Given the description of an element on the screen output the (x, y) to click on. 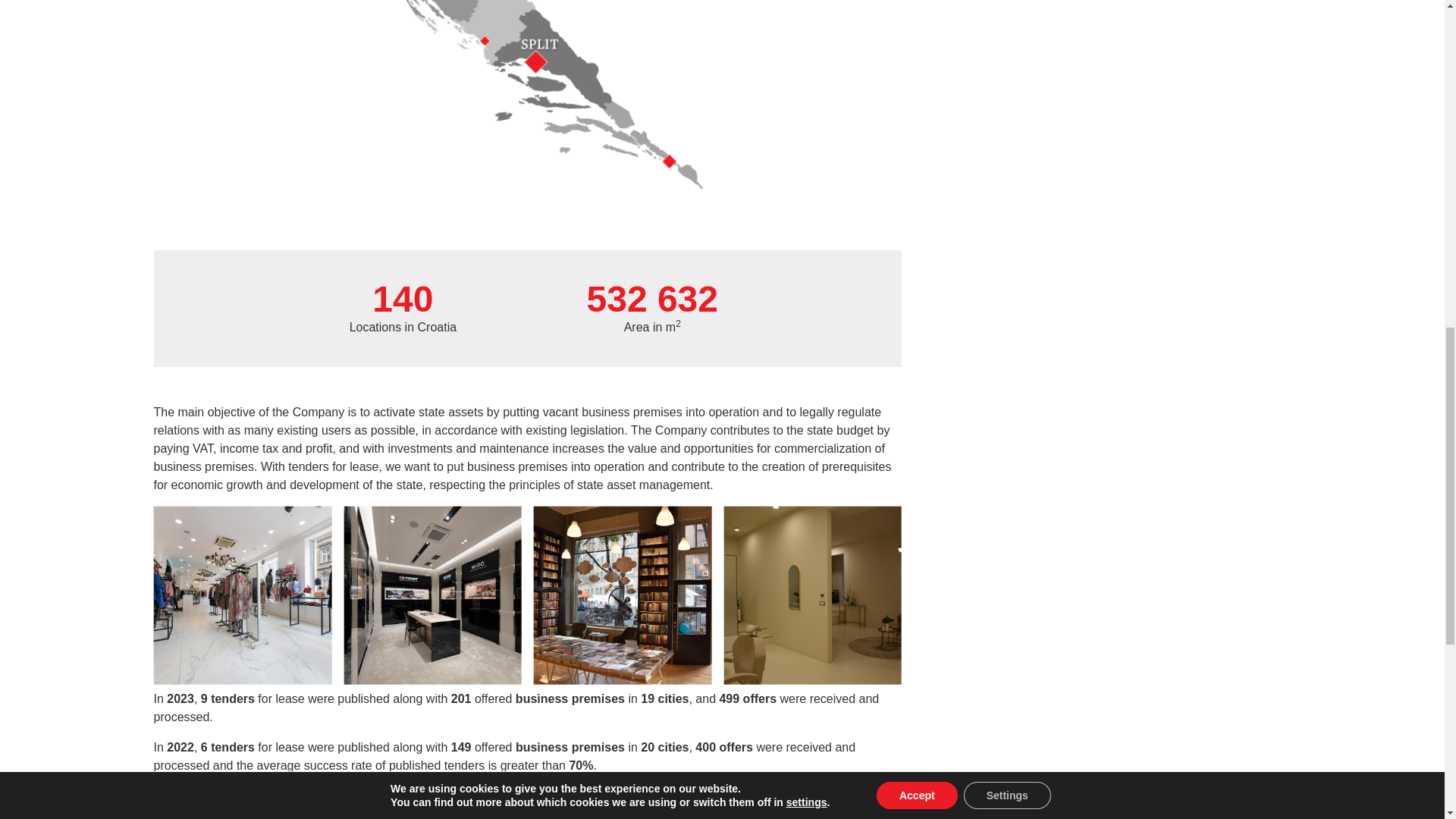
Kneza-Mislava-Fraktura (622, 595)
